Given the description of an element on the screen output the (x, y) to click on. 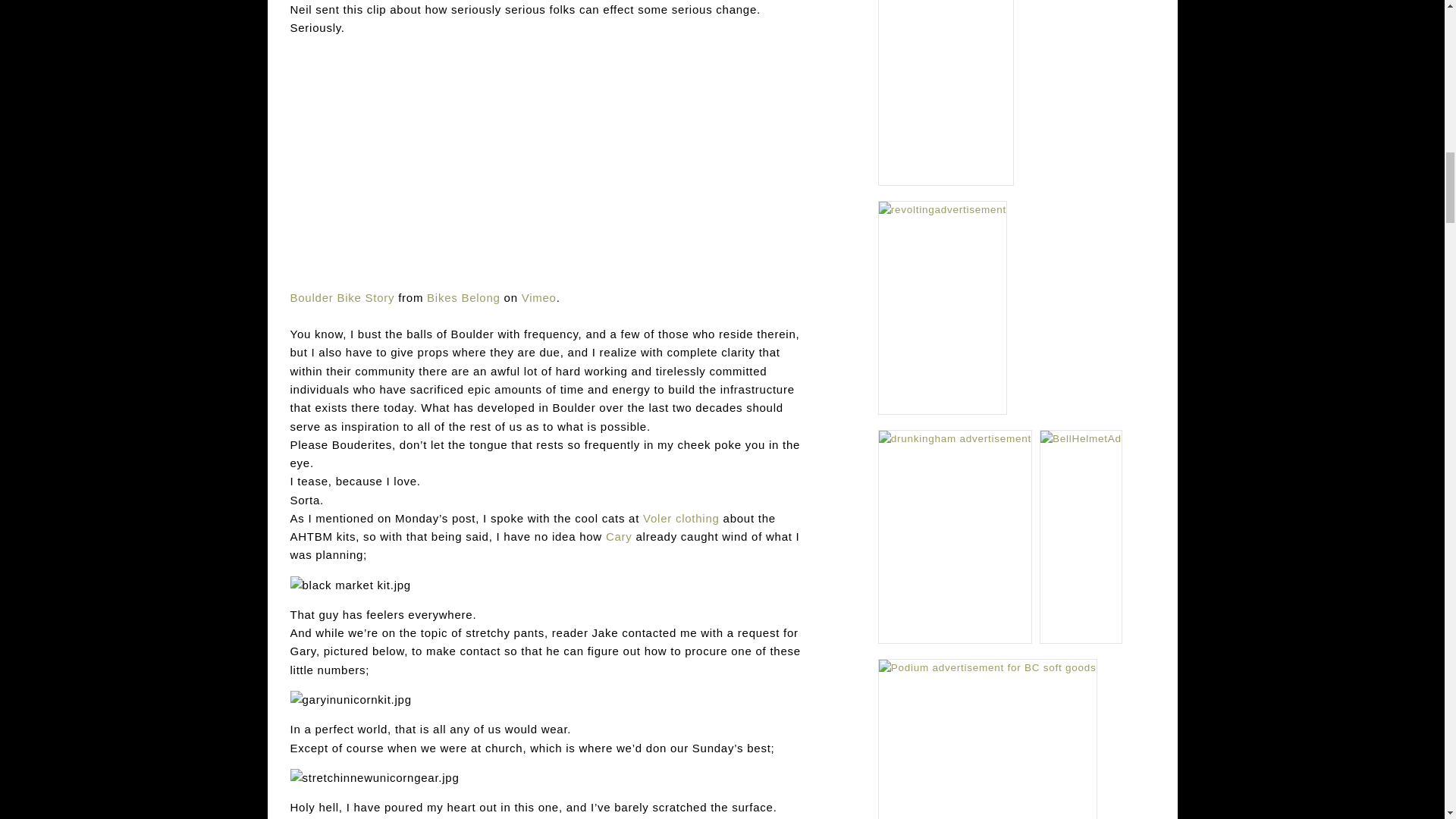
Vimeo (538, 297)
Boulder Bike Story (341, 297)
Voler clothing (681, 517)
Cary (618, 535)
Bikes Belong (463, 297)
